Given the description of an element on the screen output the (x, y) to click on. 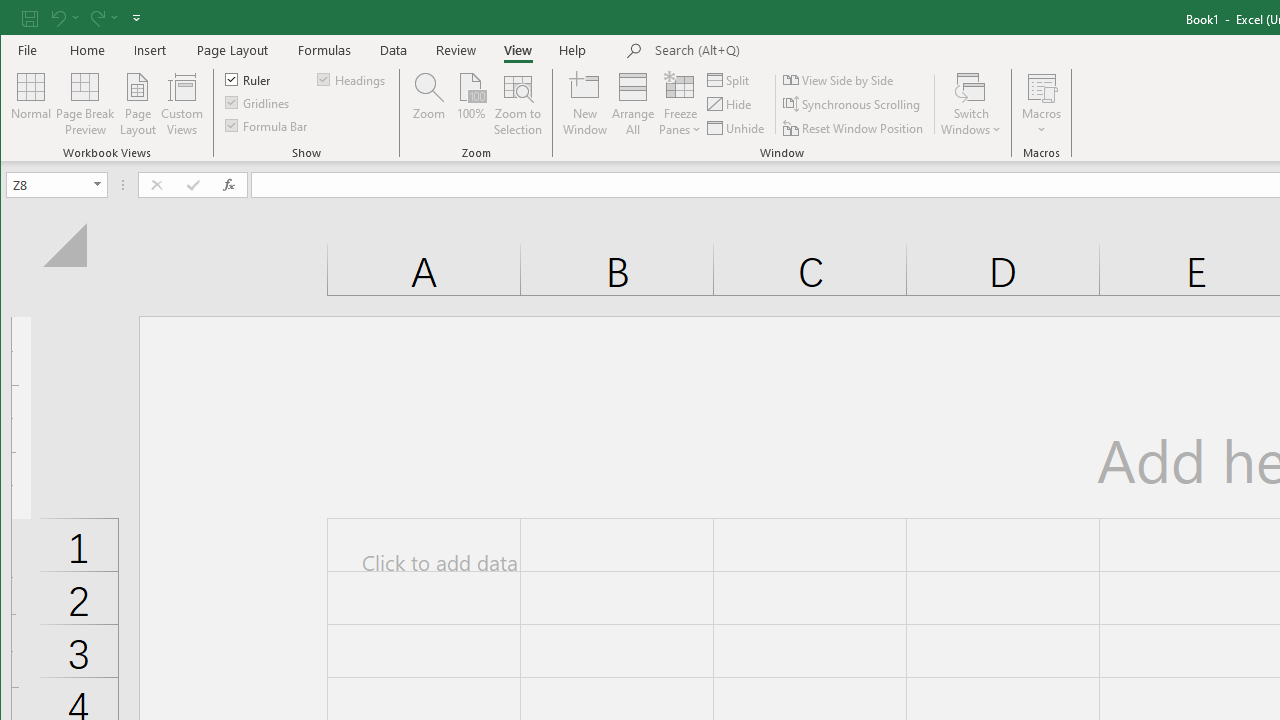
Insert (150, 50)
Freeze Panes (680, 104)
Normal (30, 104)
Formulas (325, 50)
Name Box (48, 184)
Home (87, 50)
View Side by Side (839, 80)
Review (456, 50)
Formula Bar (267, 124)
Undo (57, 17)
Macros (1041, 104)
Customize Quick Access Toolbar (136, 17)
Synchronous Scrolling (852, 103)
Arrange All (633, 104)
